Given the description of an element on the screen output the (x, y) to click on. 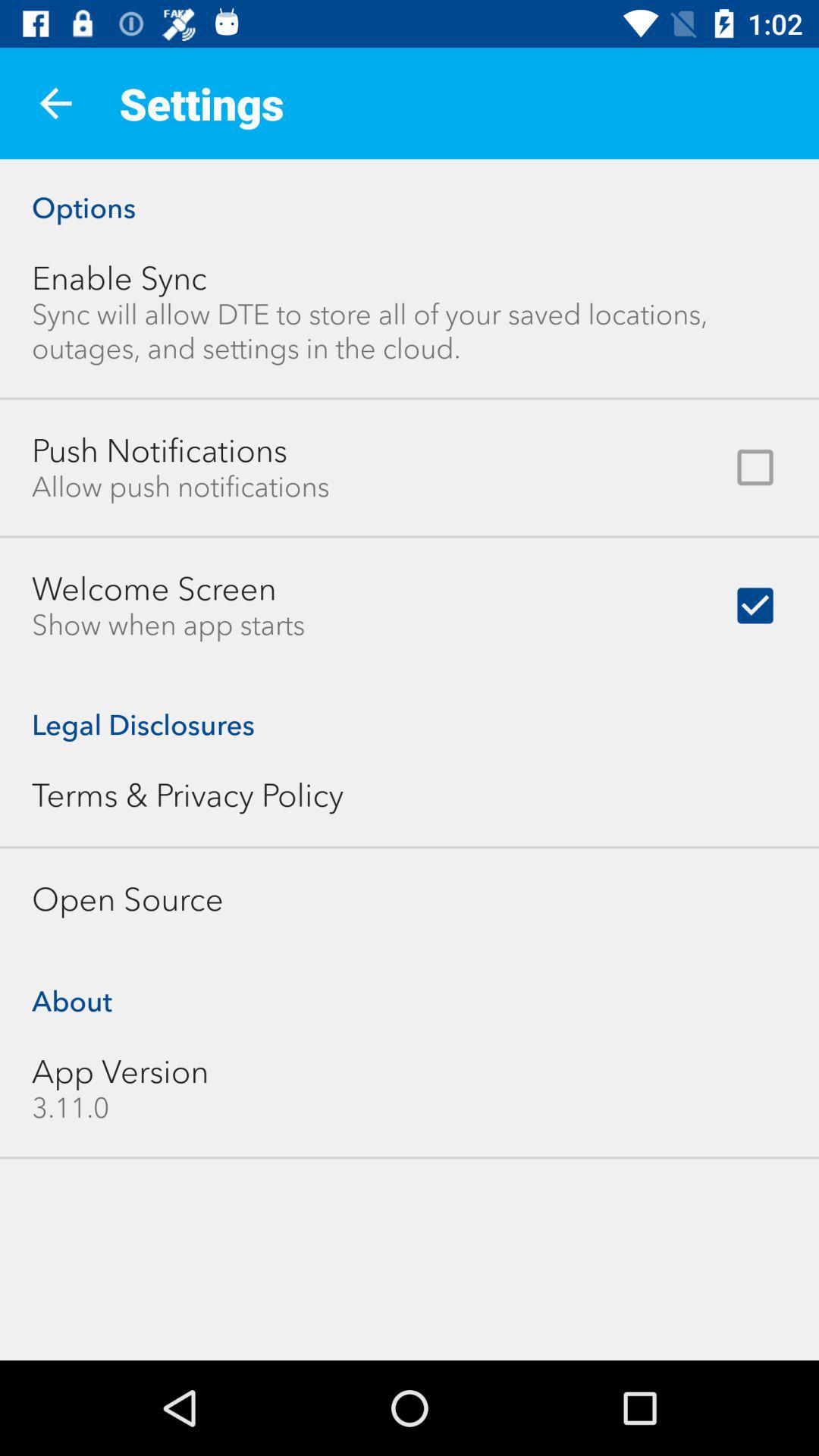
turn off open source item (127, 899)
